Given the description of an element on the screen output the (x, y) to click on. 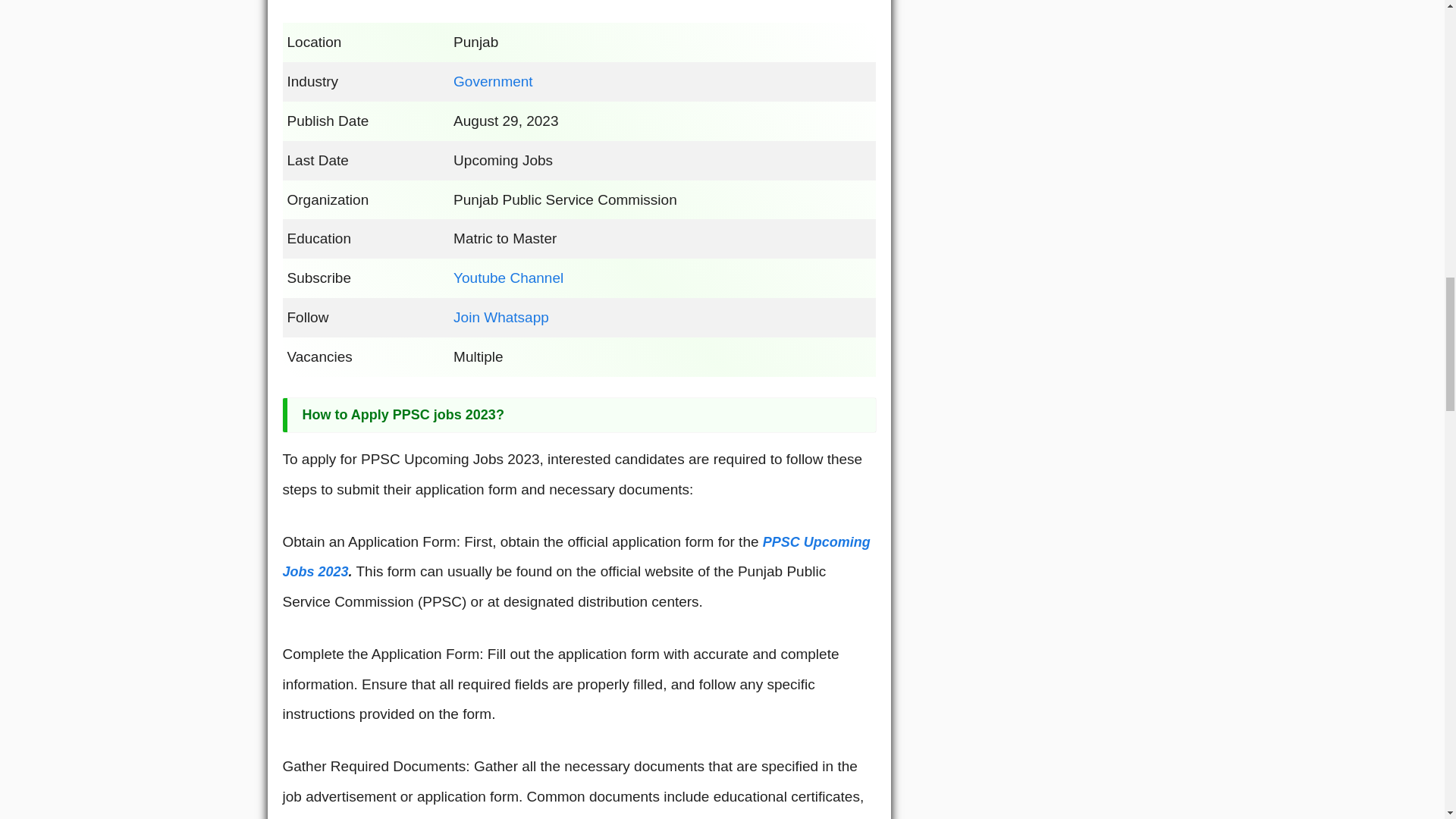
PPSC Upcoming Jobs 2023 (575, 556)
Join Whatsapp (500, 317)
Youtube Channel (507, 277)
Government (492, 81)
